Given the description of an element on the screen output the (x, y) to click on. 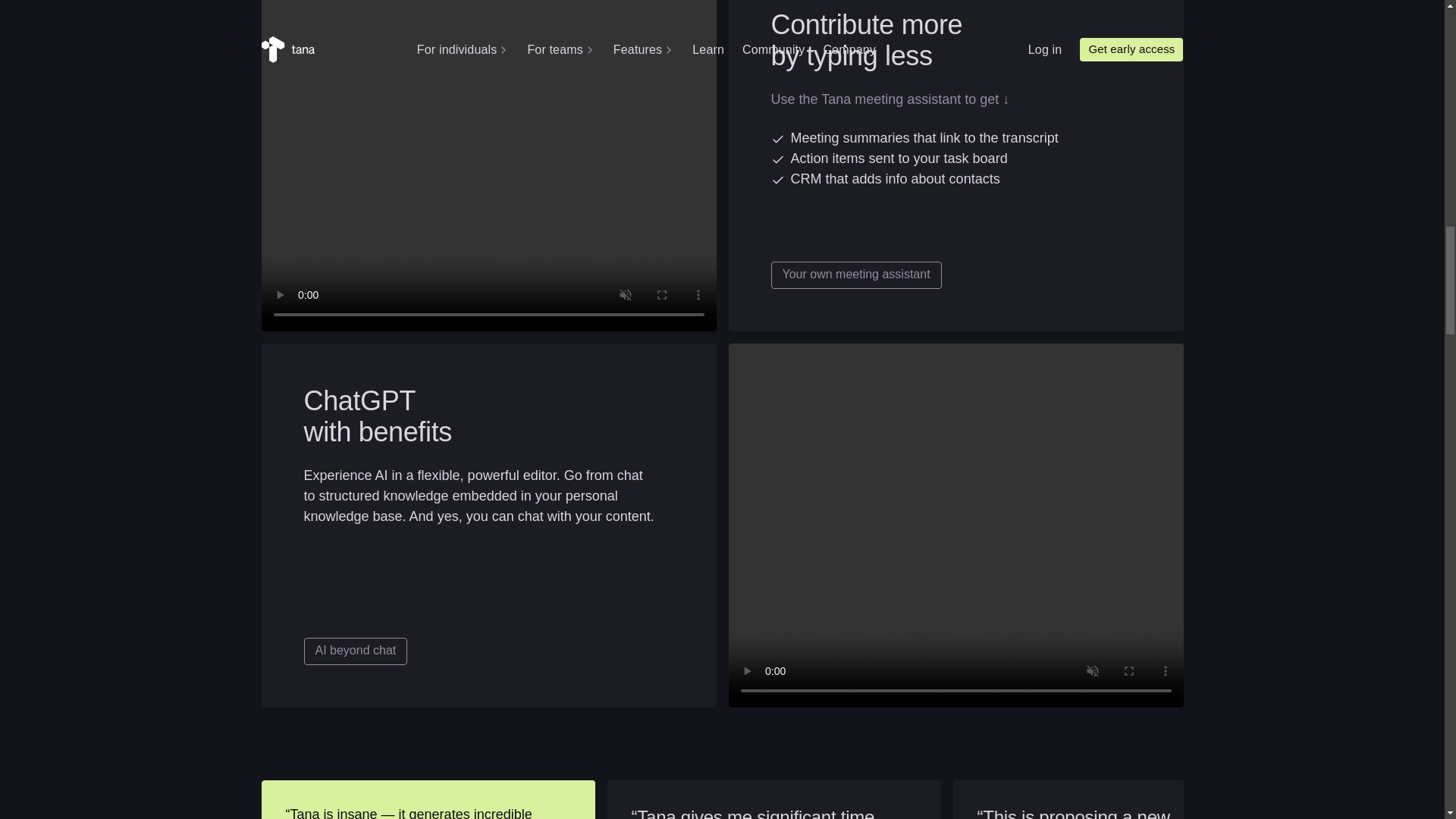
Your own meeting assistant (855, 275)
AI beyond chat (354, 651)
